Given the description of an element on the screen output the (x, y) to click on. 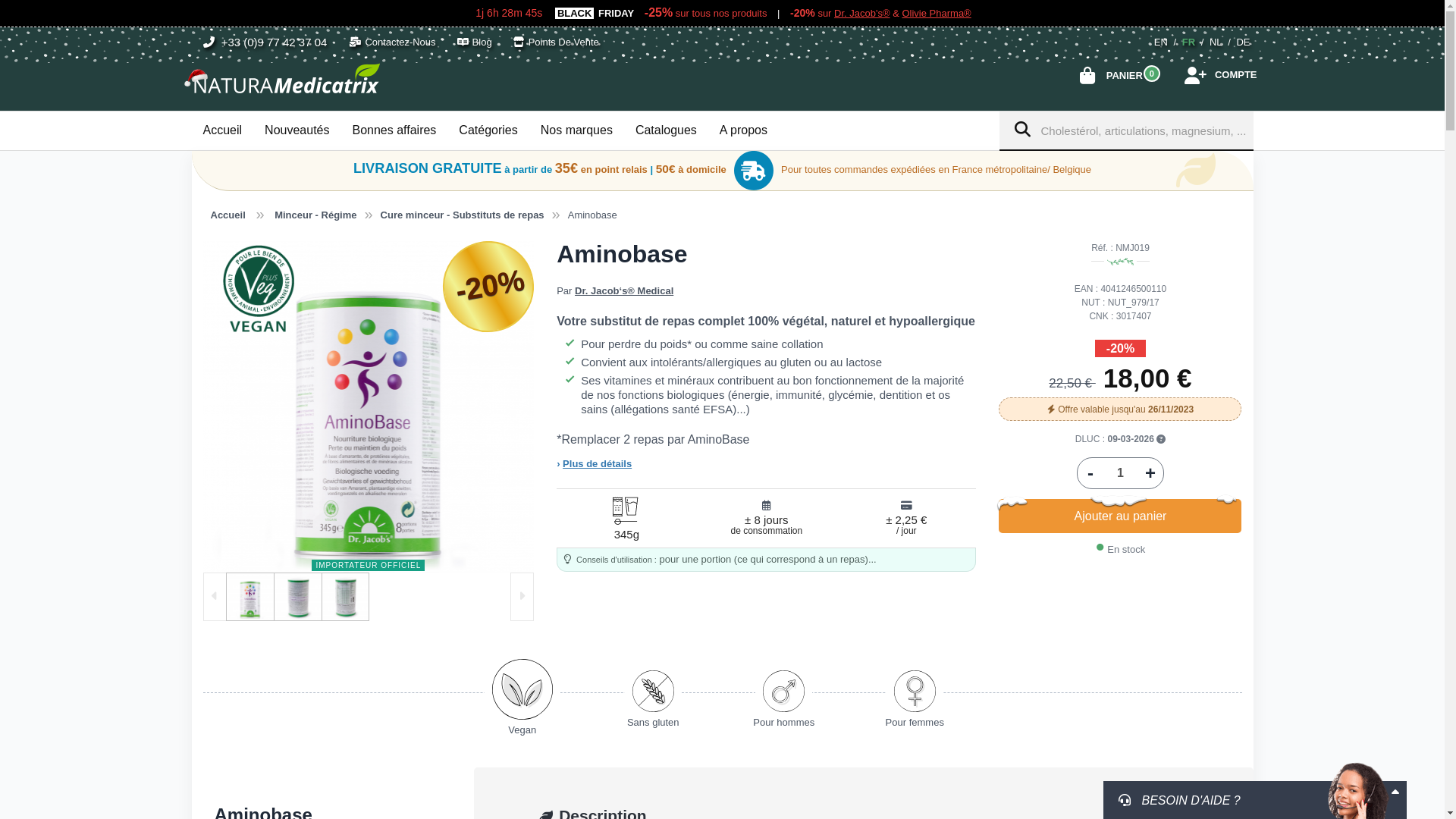
Accueil Element type: text (227, 214)
PANIER
0 Element type: text (1124, 76)
Points De Vente Element type: text (555, 42)
Cure minceur - Substituts de repas Element type: text (462, 214)
Contactez-Nous Element type: text (391, 42)
Ajouter au panier Element type: text (1119, 515)
DE Element type: text (1242, 42)
NATURAMedicatrix Element type: hover (282, 78)
+ Element type: text (1150, 472)
COMPTE Element type: text (1235, 75)
Nos marques Element type: text (576, 130)
EN Element type: text (1160, 42)
Accueil Element type: text (222, 130)
NL Element type: text (1215, 42)
- Element type: text (1090, 472)
Catalogues Element type: text (666, 130)
A propos Element type: text (743, 130)
Bonnes affaires Element type: text (393, 130)
Blog Element type: text (474, 42)
